Given the description of an element on the screen output the (x, y) to click on. 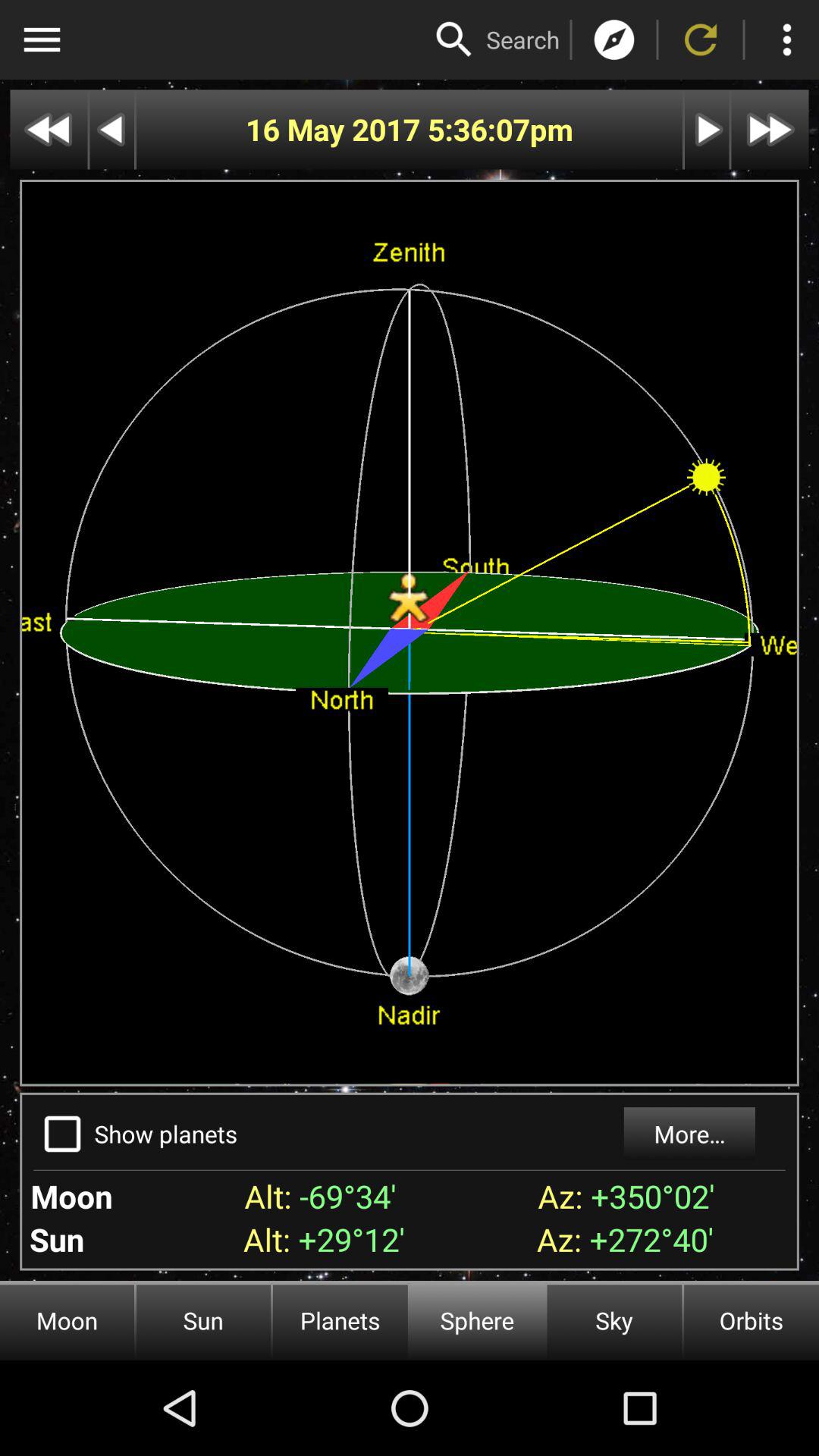
refresh the page (700, 39)
